Given the description of an element on the screen output the (x, y) to click on. 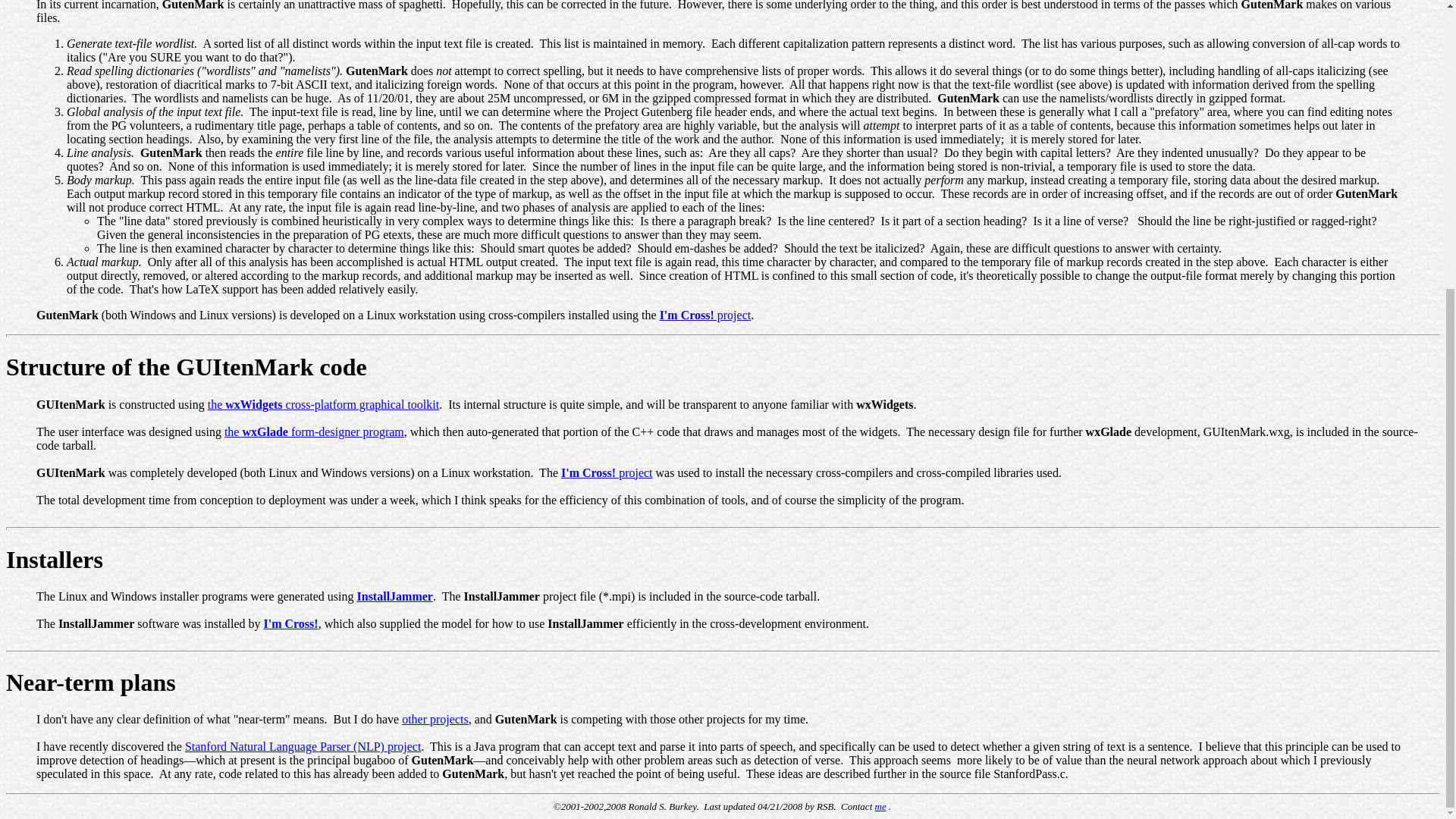
InstallJammer (394, 595)
the wxGlade form-designer program (314, 431)
other projects (434, 718)
I'm Cross! (290, 623)
I'm Cross! project (705, 314)
the wxWidgets cross-platform graphical toolkit (323, 404)
me (880, 806)
I'm Cross! project (606, 472)
